Given the description of an element on the screen output the (x, y) to click on. 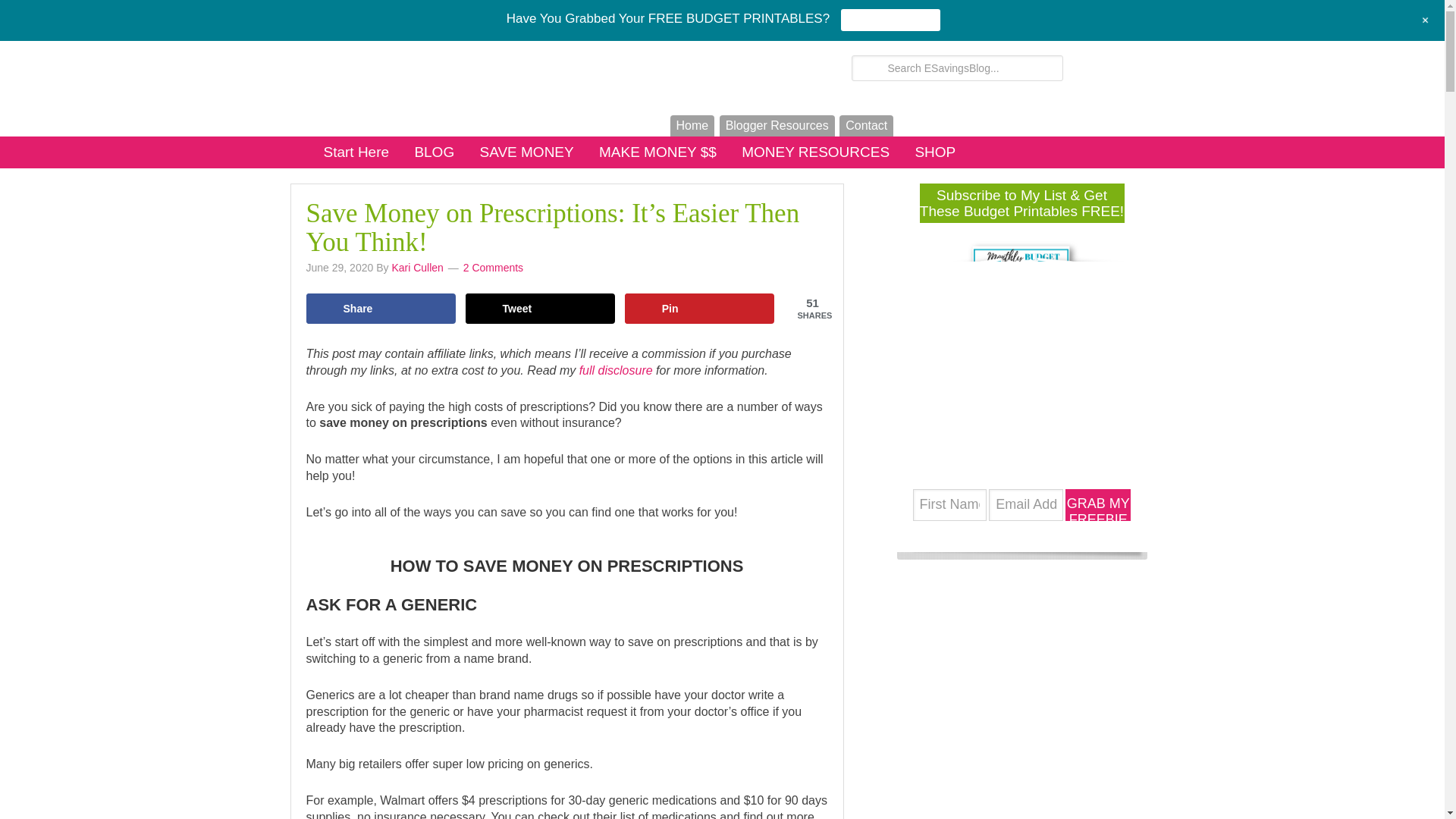
MONEY RESOURCES (814, 152)
ESAVINGSBLOG (467, 66)
SHOP (935, 152)
Share on Facebook (381, 308)
full disclosure (615, 369)
Tweet (540, 308)
Home (691, 125)
2 Comments (492, 267)
Start Here (355, 152)
Contact (866, 125)
Kari Cullen (416, 267)
BLOG (433, 152)
Save to Pinterest (699, 308)
